Given the description of an element on the screen output the (x, y) to click on. 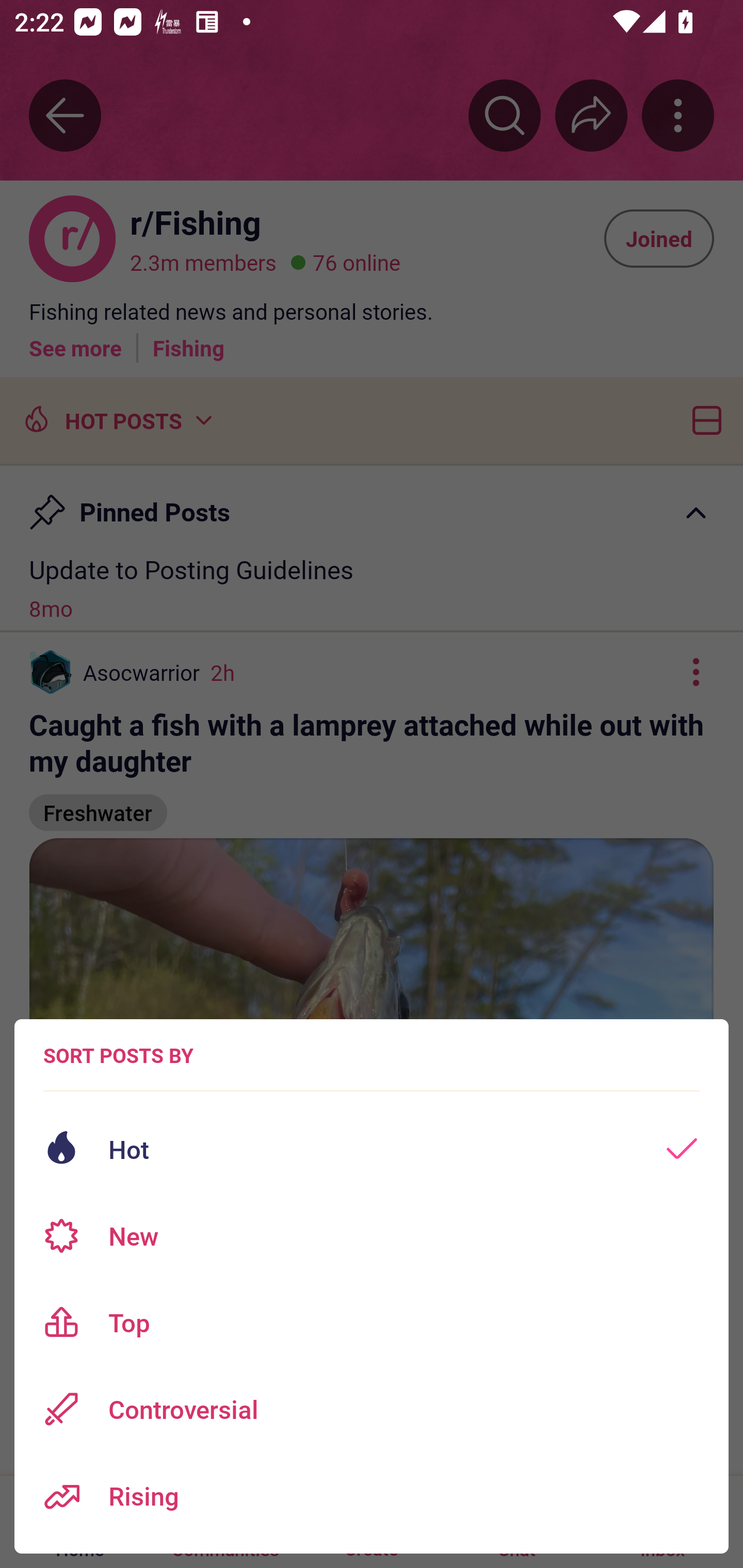
SORT POSTS BY Sort posts options (118, 1055)
Hot (371, 1149)
New (371, 1236)
Top (371, 1322)
Controversial (371, 1408)
Rising (371, 1495)
